Given the description of an element on the screen output the (x, y) to click on. 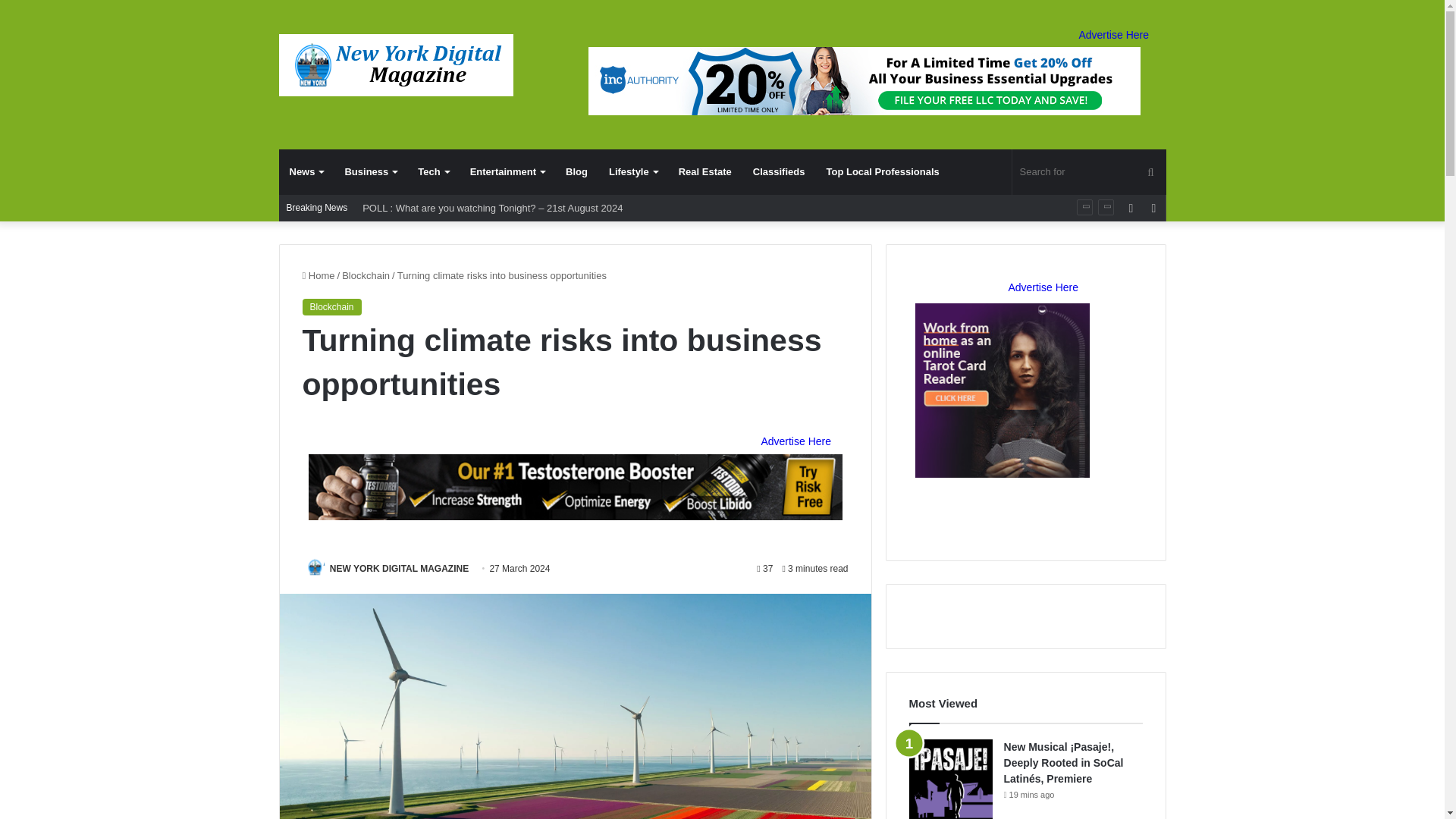
Classifieds (778, 171)
News (306, 171)
Lifestyle (633, 171)
NEW YORK DIGITAL MAGAZINE (399, 568)
Top Local Professionals (882, 171)
Tech (432, 171)
Newyorkdigitalmagazine.com (396, 65)
Blog (576, 171)
Real Estate (705, 171)
Search for (1088, 171)
